Given the description of an element on the screen output the (x, y) to click on. 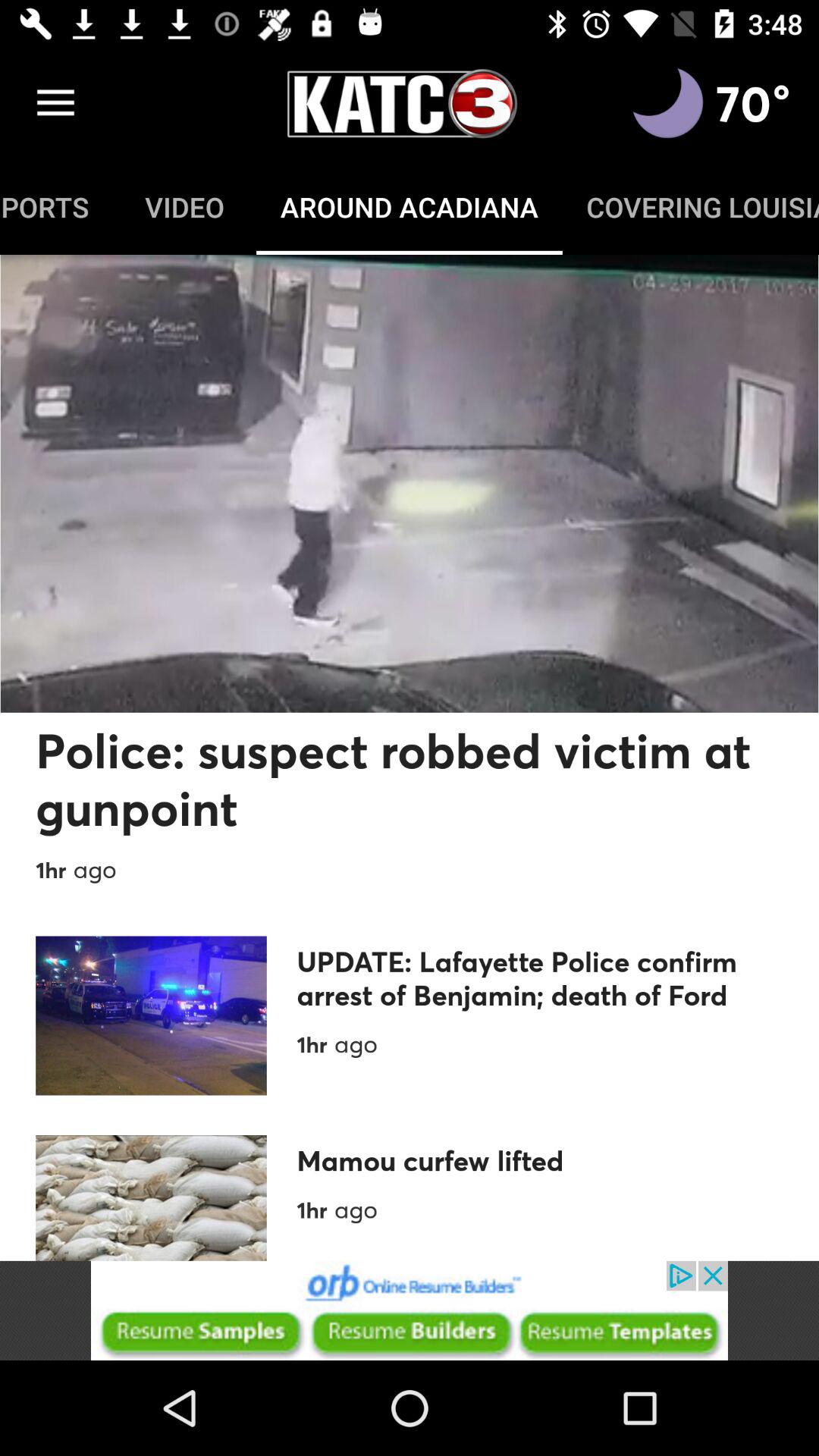
select the text 70 on the top right corner of the  web page (753, 103)
select the text right to ports (184, 206)
click on the image beside mamou curfew lifted (151, 1197)
